Given the description of an element on the screen output the (x, y) to click on. 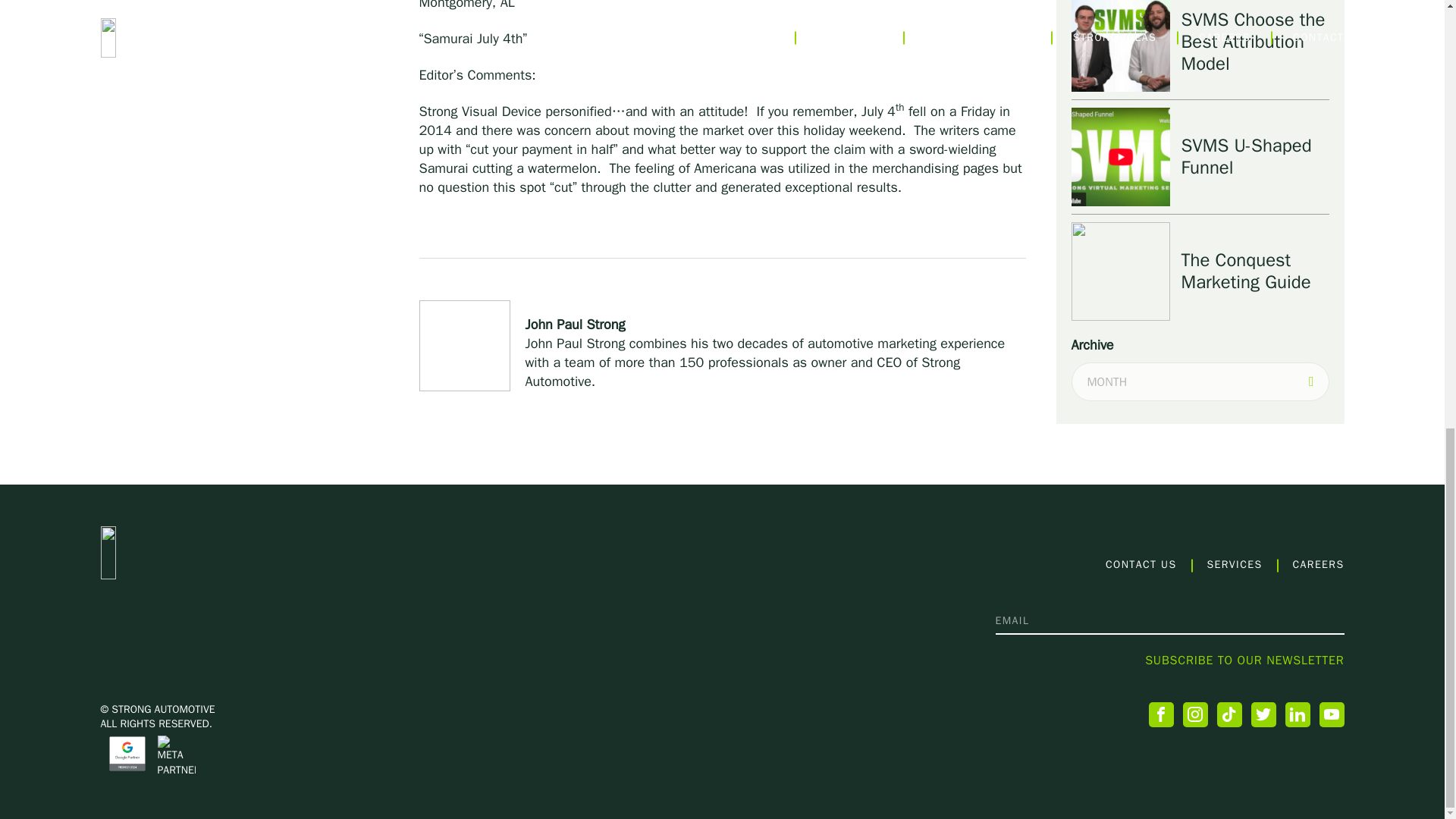
Strong Automotive (204, 552)
Twitter (1263, 714)
Youtube (1331, 714)
Google Premier Partner (126, 753)
Meta Partner (176, 756)
Instagram (1195, 714)
Facebook (1160, 714)
LinkedIn (1296, 714)
TikTok (1228, 714)
